Given the description of an element on the screen output the (x, y) to click on. 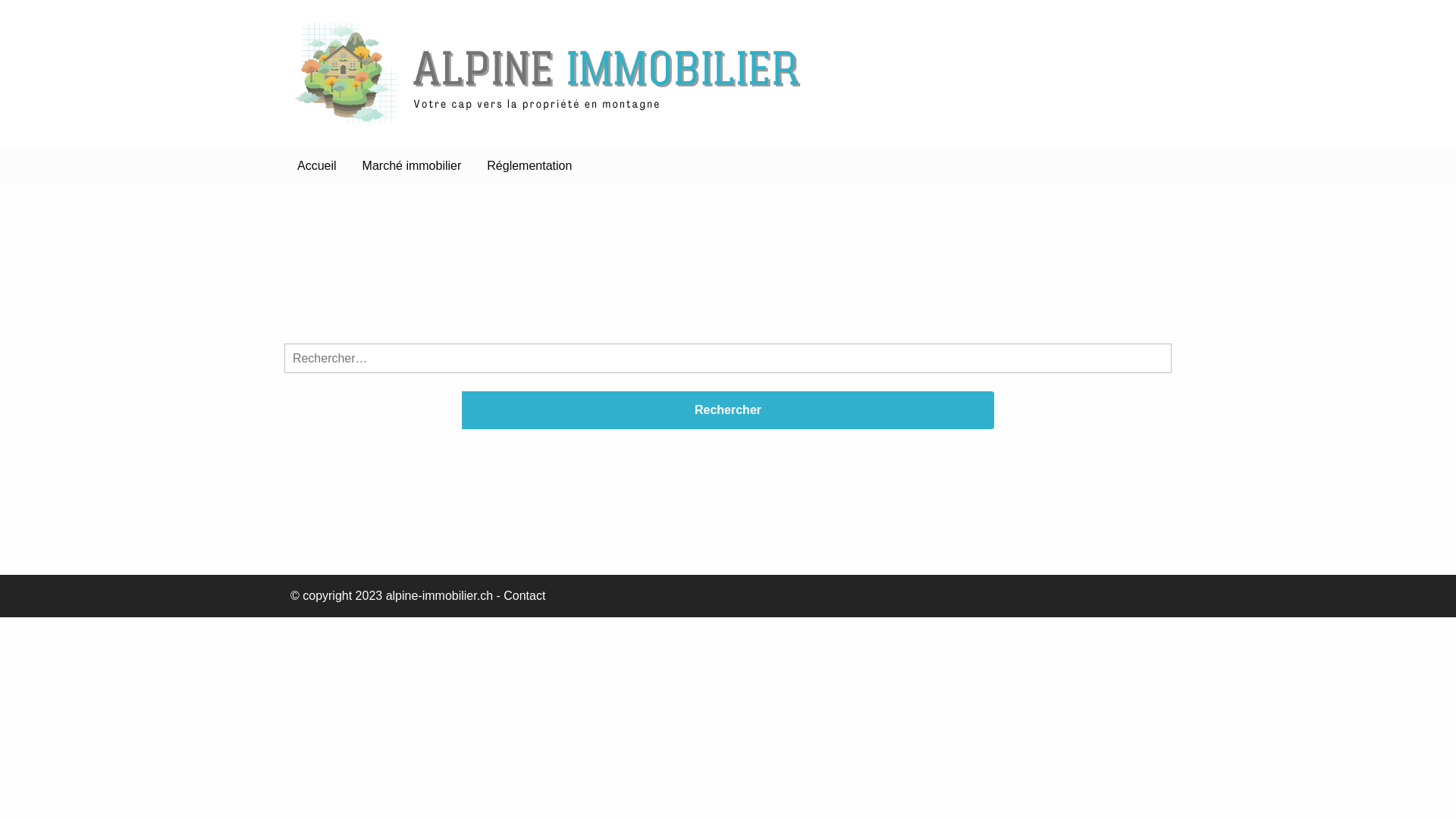
Contact Element type: text (524, 595)
Rechercher Element type: text (727, 410)
Accueil Element type: text (316, 165)
alpine-immobilier.ch Element type: text (438, 595)
Alpine Immobilier Element type: text (431, 148)
